Given the description of an element on the screen output the (x, y) to click on. 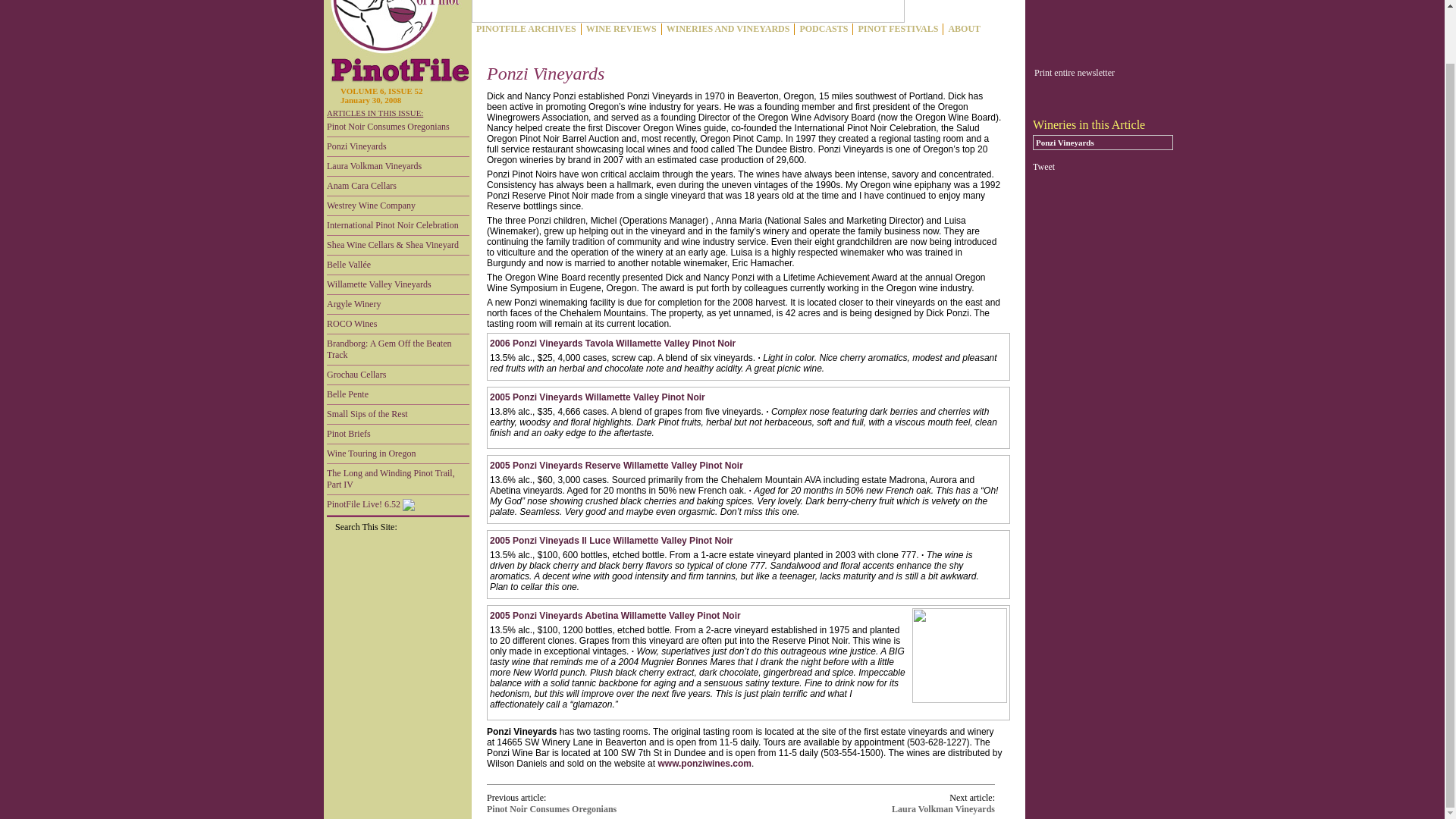
WINE REVIEWS (620, 29)
Pinot Noir Consumes Oregonians (397, 127)
Laura Volkman Vineyards (397, 166)
Willamette Valley Vineyards (397, 284)
Anam Cara Cellars (397, 186)
The Long and Winding Pinot Trail, Part IV (397, 479)
Brandborg: A Gem Off the Beaten Track (397, 349)
PINOT FESTIVALS (897, 29)
2006 Ponzi Vineyards Tavola Willamette Valley Pinot Noir (612, 343)
Wine Touring in Oregon (397, 454)
